Given the description of an element on the screen output the (x, y) to click on. 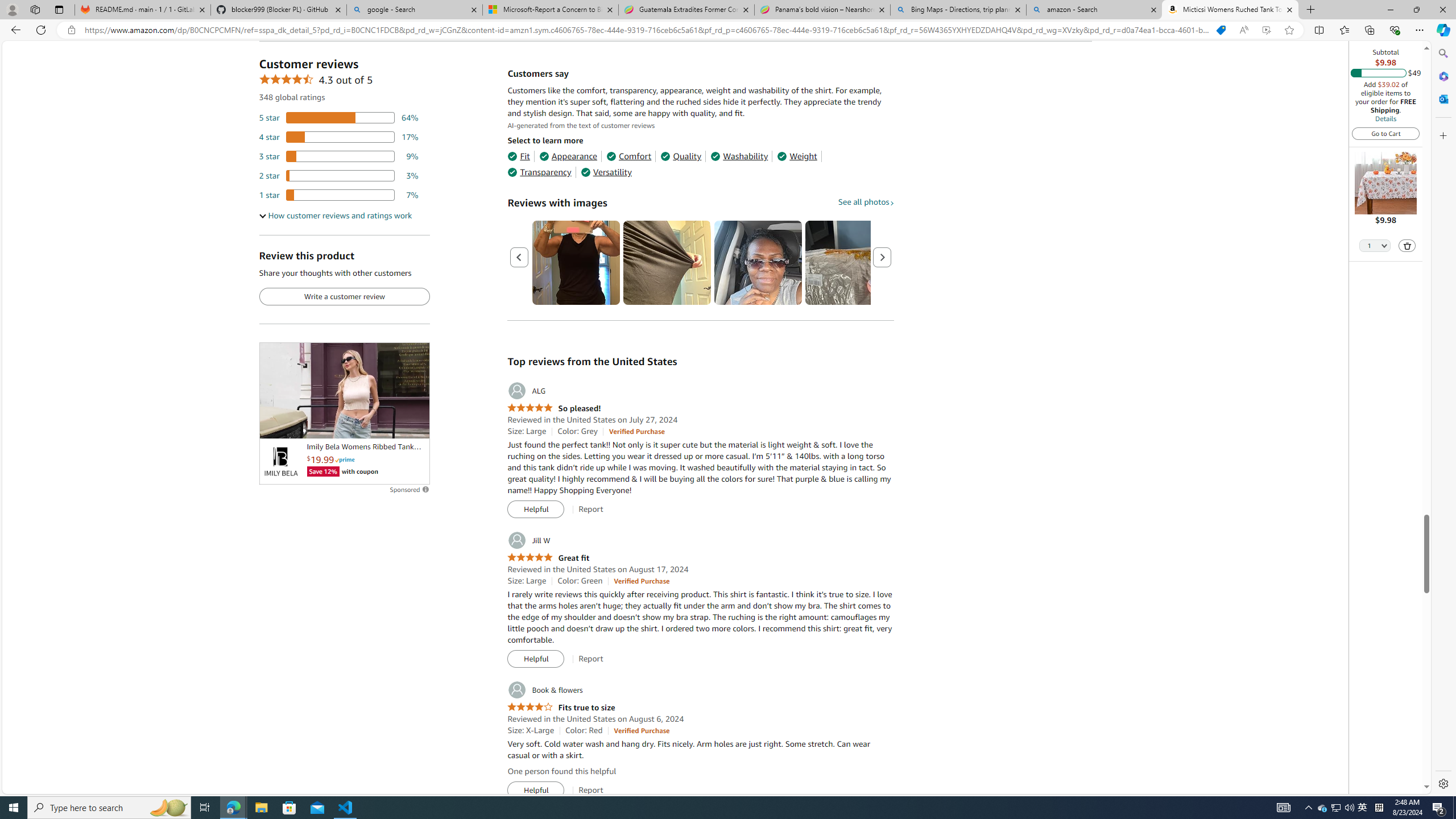
Customer Image (758, 262)
Class: a-carousel-card (757, 262)
Transparency (539, 172)
Verified Purchase (640, 730)
